Given the description of an element on the screen output the (x, y) to click on. 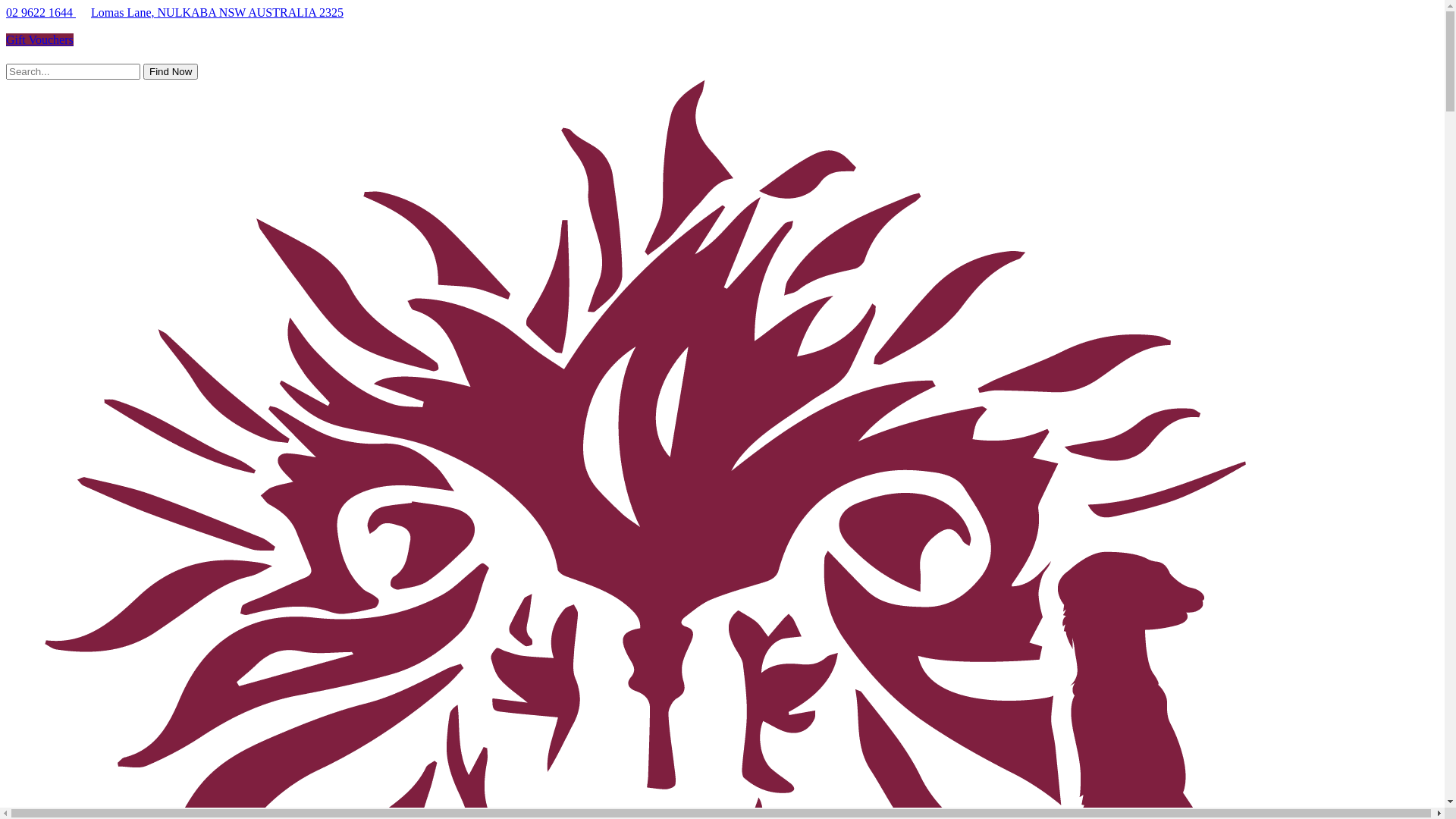
Lomas Lane, NULKABA NSW AUSTRALIA 2325 Element type: text (217, 12)
Gift Vouchers Element type: text (39, 39)
02 9622 1644 Element type: text (40, 12)
Find Now Element type: text (170, 71)
